Given the description of an element on the screen output the (x, y) to click on. 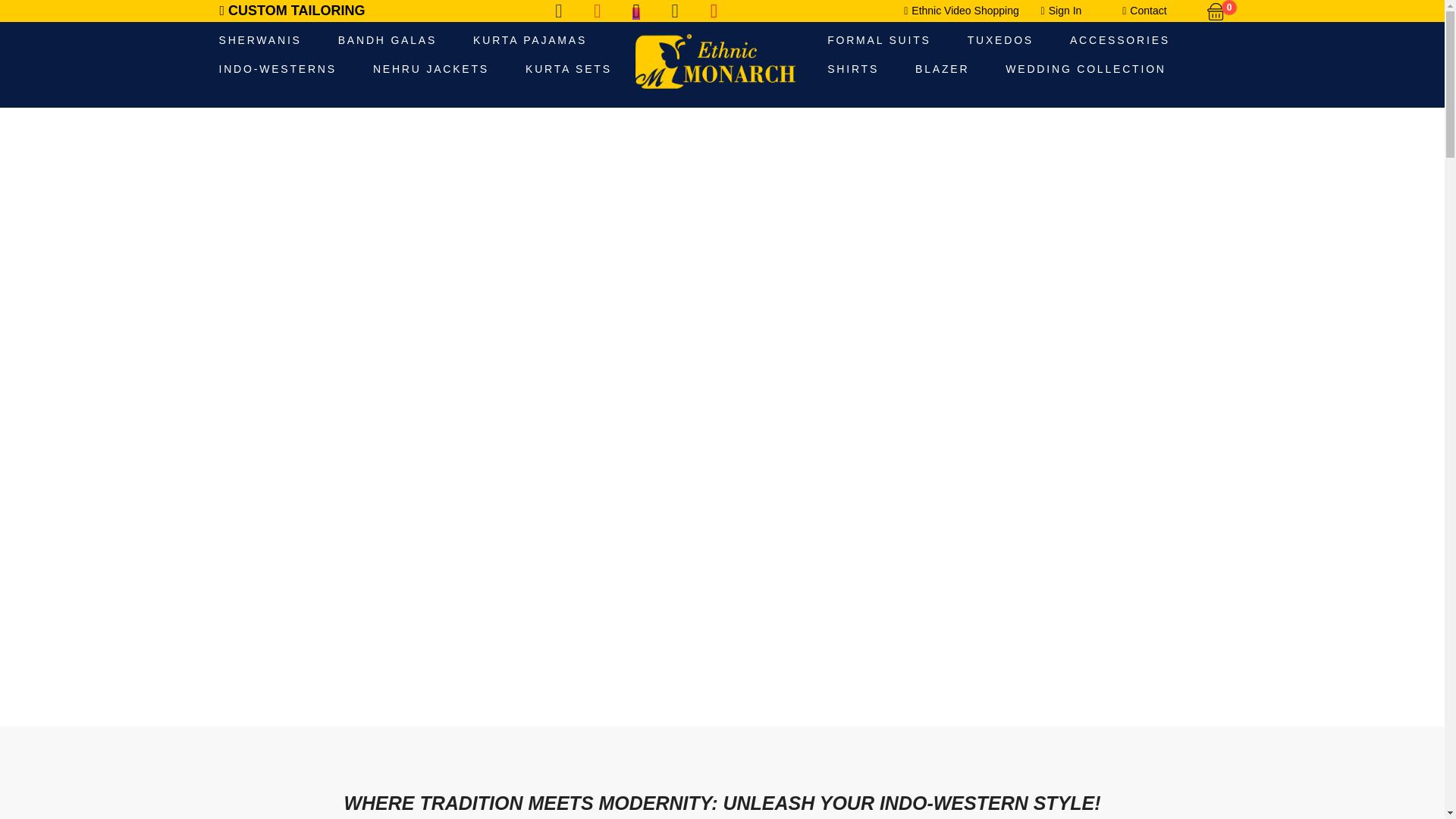
Contact (1144, 10)
FORMAL SUITS (879, 40)
KURTA PAJAMAS (529, 40)
ACCESSORIES (1119, 40)
BANDH GALAS (387, 40)
Sign In (1061, 10)
Ethnic Video Shopping (961, 10)
TUXEDOS (1000, 40)
INDO-WESTERNS (276, 69)
WEDDING COLLECTION (1085, 69)
CUSTOM TAILORING (292, 10)
SHIRTS (852, 69)
NEHRU JACKETS (430, 69)
BLAZER (941, 69)
SHERWANIS (259, 40)
